Given the description of an element on the screen output the (x, y) to click on. 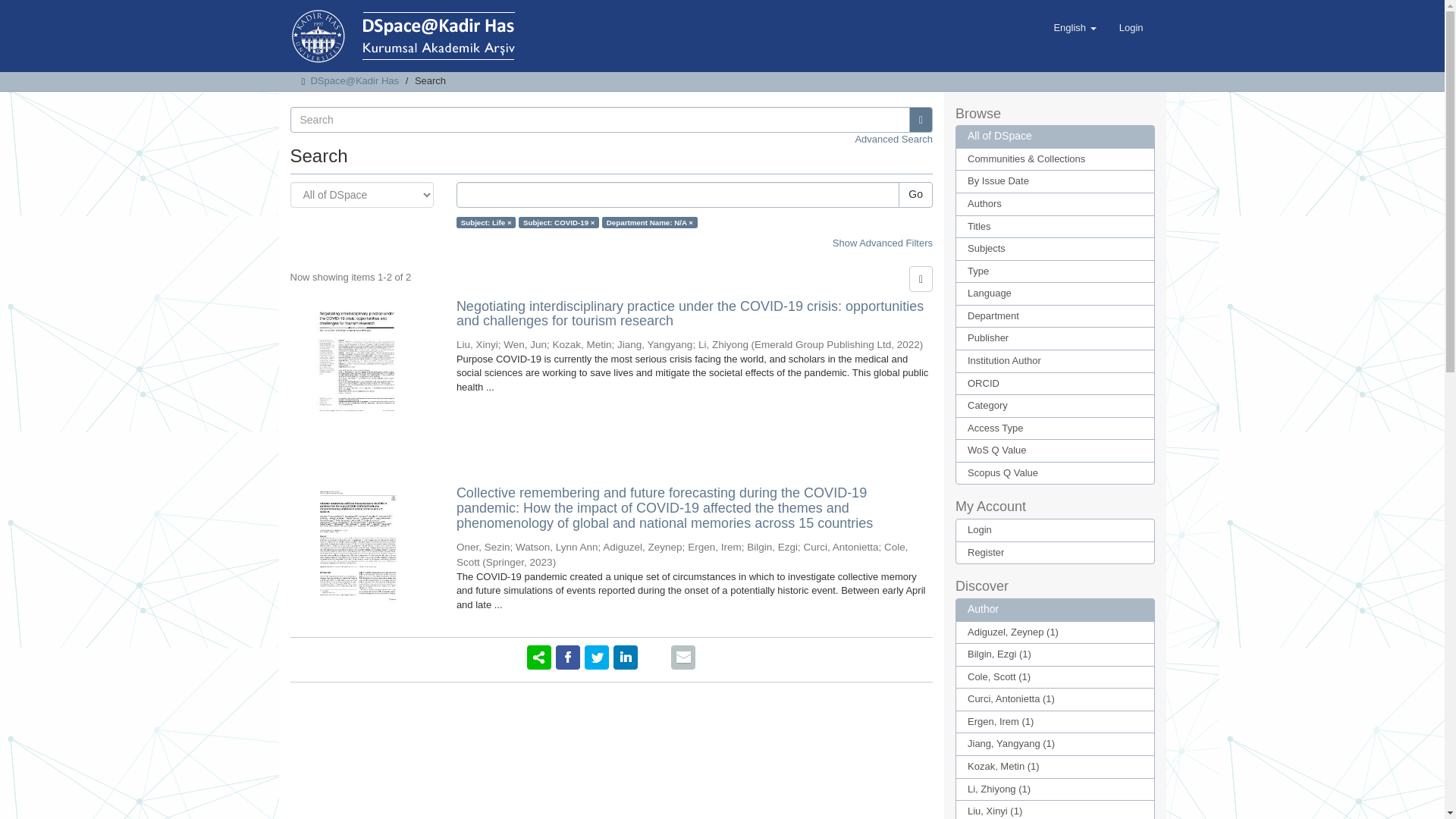
Show Advanced Filters (882, 242)
Go (915, 194)
Go (920, 119)
Advanced Search (893, 138)
English  (1074, 27)
Login (1131, 27)
